Given the description of an element on the screen output the (x, y) to click on. 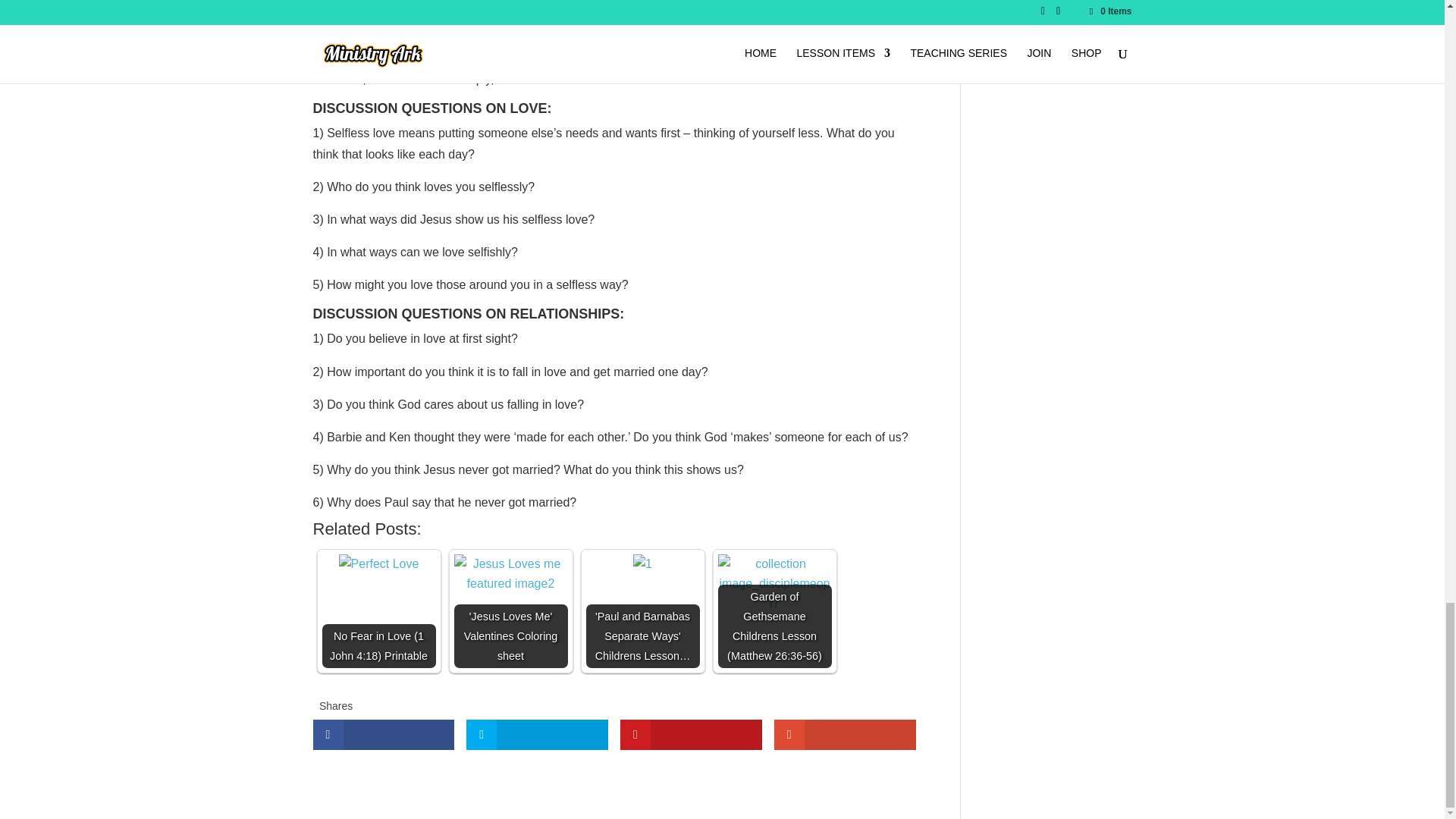
'Jesus Loves Me' Valentines Coloring sheet (509, 573)
'Jesus Loves Me' Valentines Coloring sheet (509, 611)
